Given the description of an element on the screen output the (x, y) to click on. 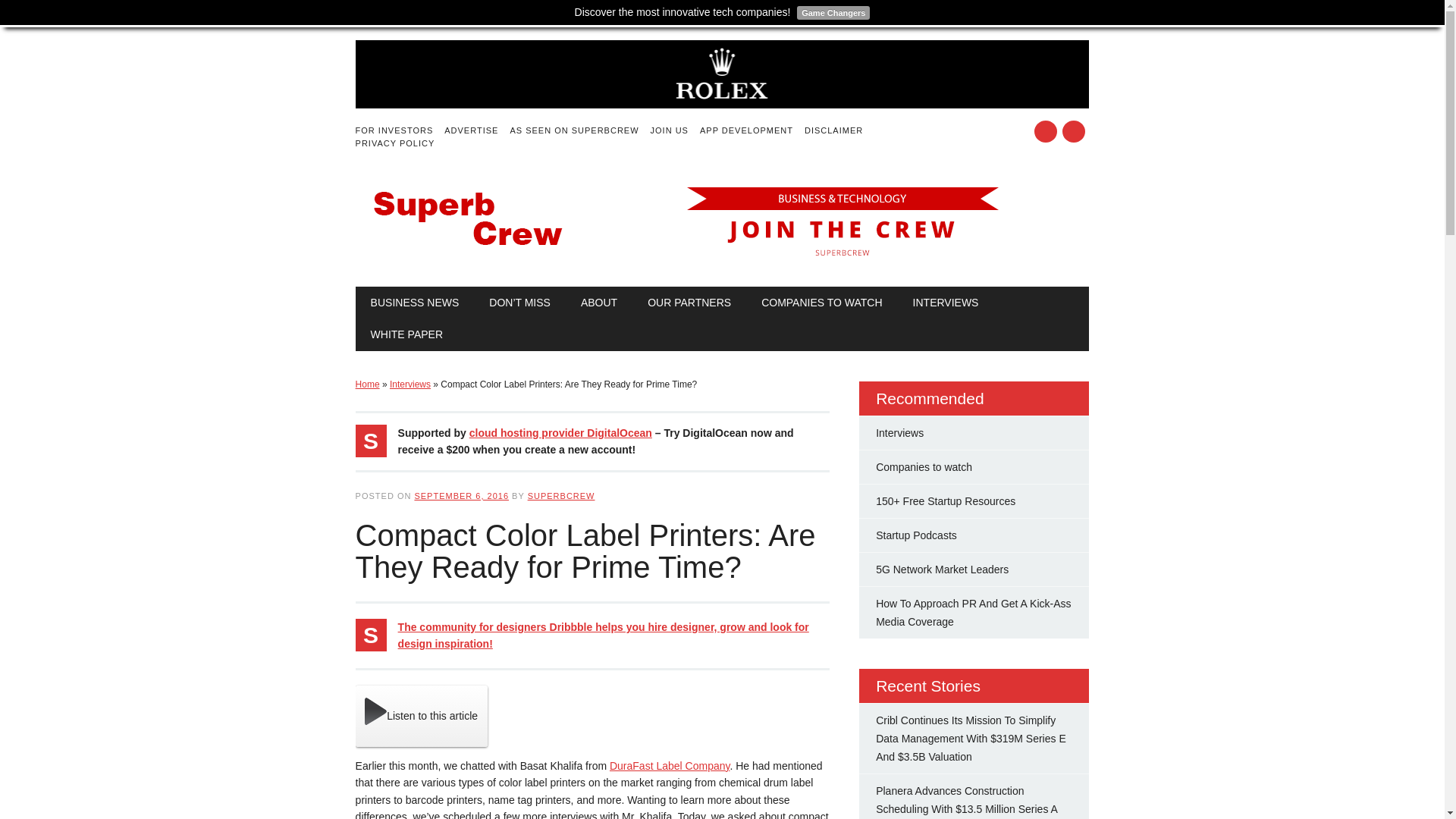
Business News (414, 302)
SUPERBCREW (561, 495)
View all posts by SuperbCrew (561, 495)
FOR INVESTORS (400, 130)
COMPANIES TO WATCH (820, 302)
APP DEVELOPMENT (752, 130)
5:00 am (460, 495)
Twitter (1045, 131)
cloud hosting provider DigitalOcean (560, 432)
BUSINESS NEWS (414, 302)
